Given the description of an element on the screen output the (x, y) to click on. 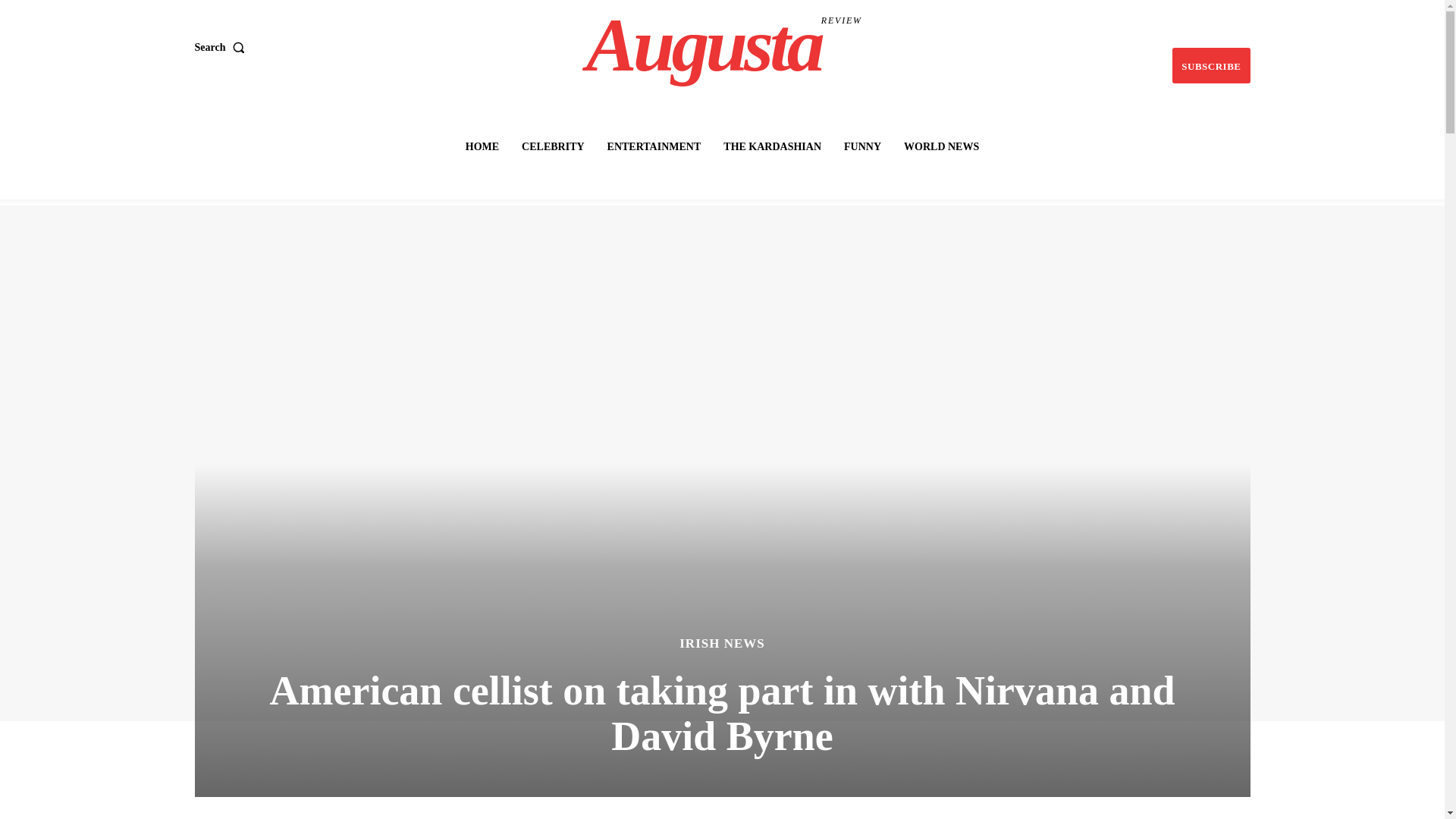
HOME (482, 146)
WORLD NEWS (941, 146)
FUNNY (724, 45)
SUBSCRIBE (861, 146)
THE KARDASHIAN (1210, 65)
Search (772, 146)
CELEBRITY (221, 47)
ENTERTAINMENT (552, 146)
